Given the description of an element on the screen output the (x, y) to click on. 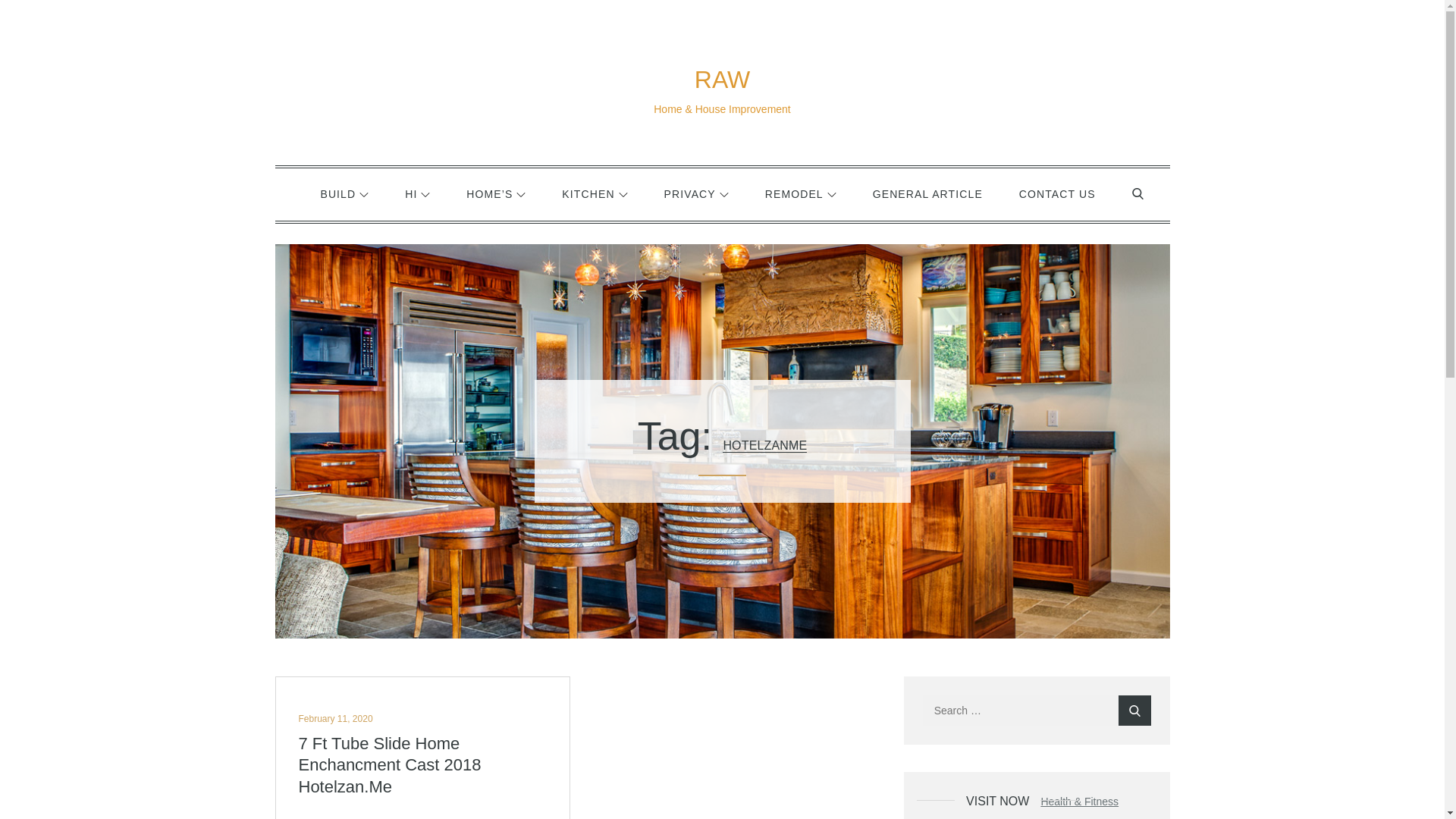
7 Ft Tube Slide Home Enchancment Cast 2018 Hotelzan.Me (422, 765)
HI (417, 194)
RAW (721, 79)
BUILD (343, 194)
PRIVACY (696, 194)
CONTACT US (1057, 194)
February 11, 2020 (335, 718)
GENERAL ARTICLE (927, 194)
REMODEL (800, 194)
KITCHEN (593, 194)
